Given the description of an element on the screen output the (x, y) to click on. 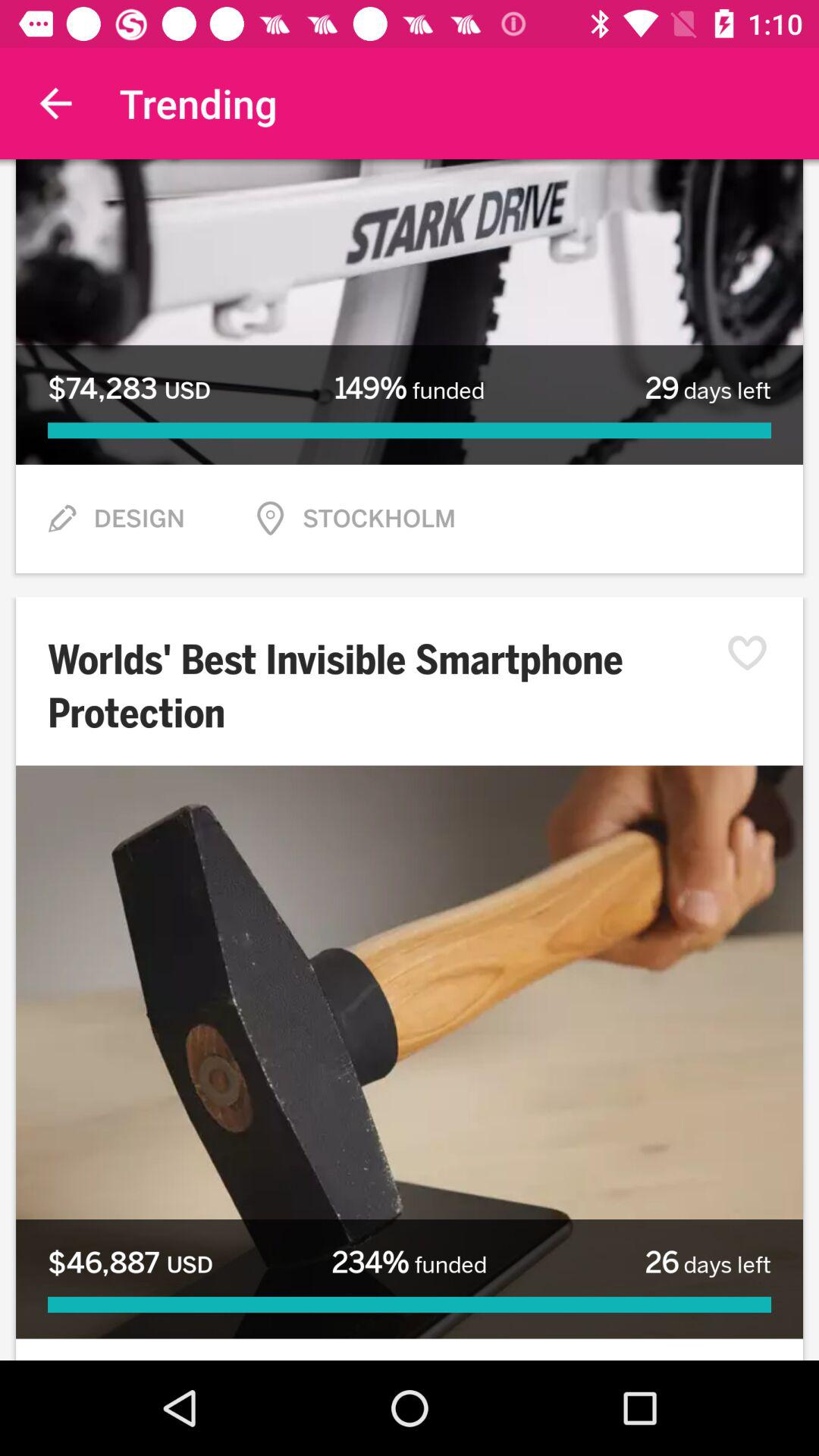
select icon to the right of the worlds best invisible item (755, 653)
